Given the description of an element on the screen output the (x, y) to click on. 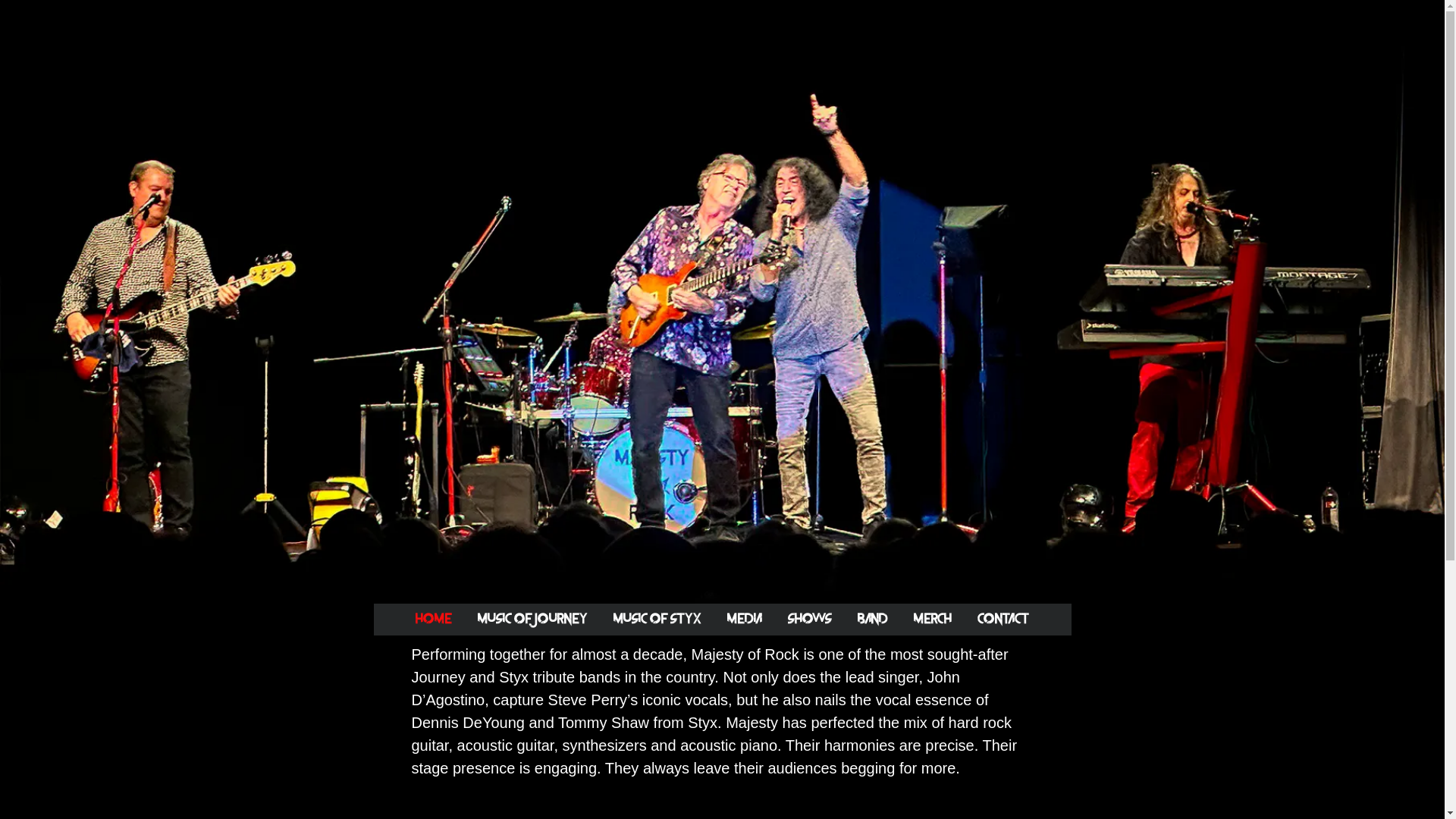
Contact Element type: text (1003, 619)
Shows Element type: text (809, 619)
Music of Journey Element type: text (532, 619)
Music of Styx Element type: text (657, 619)
Band Element type: text (872, 619)
Home Element type: text (433, 619)
Merch Element type: text (932, 619)
Media Element type: text (744, 619)
